Given the description of an element on the screen output the (x, y) to click on. 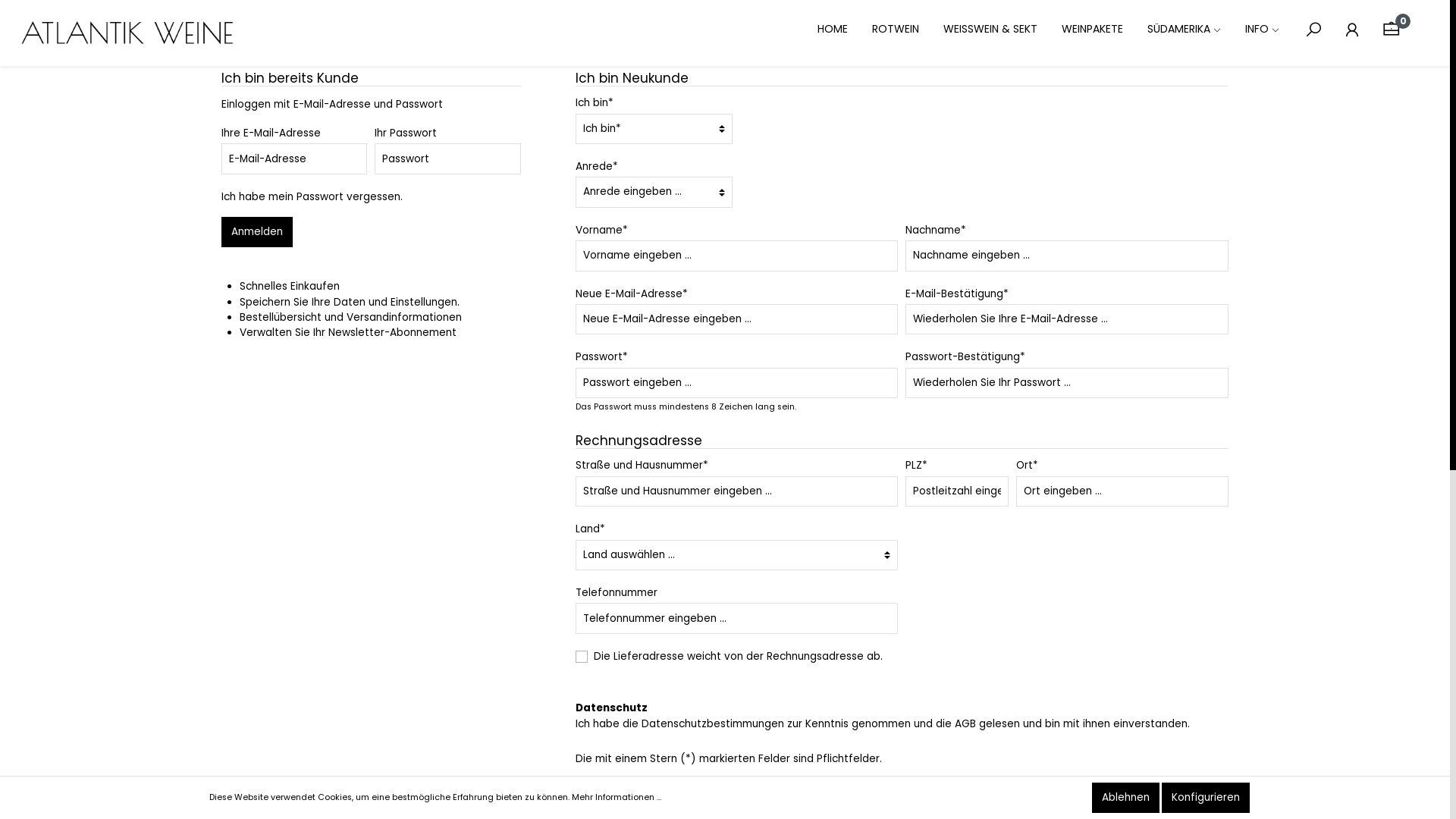
WEINPAKETE Element type: text (1104, 30)
0 Element type: text (1390, 30)
Konfigurieren Element type: text (1205, 797)
Ich habe mein Passwort vergessen. Element type: text (311, 196)
Weiter Element type: text (1198, 796)
Ablehnen Element type: text (1125, 797)
Zur Startseite wechseln Element type: hover (128, 32)
Anmelden Element type: text (256, 231)
Datenschutzbestimmungen Element type: text (712, 723)
Mehr Informationen ... Element type: text (616, 797)
AGB Element type: text (964, 723)
HOME Element type: text (844, 30)
ROTWEIN Element type: text (907, 30)
WEISSWEIN & SEKT Element type: text (1002, 30)
